Given the description of an element on the screen output the (x, y) to click on. 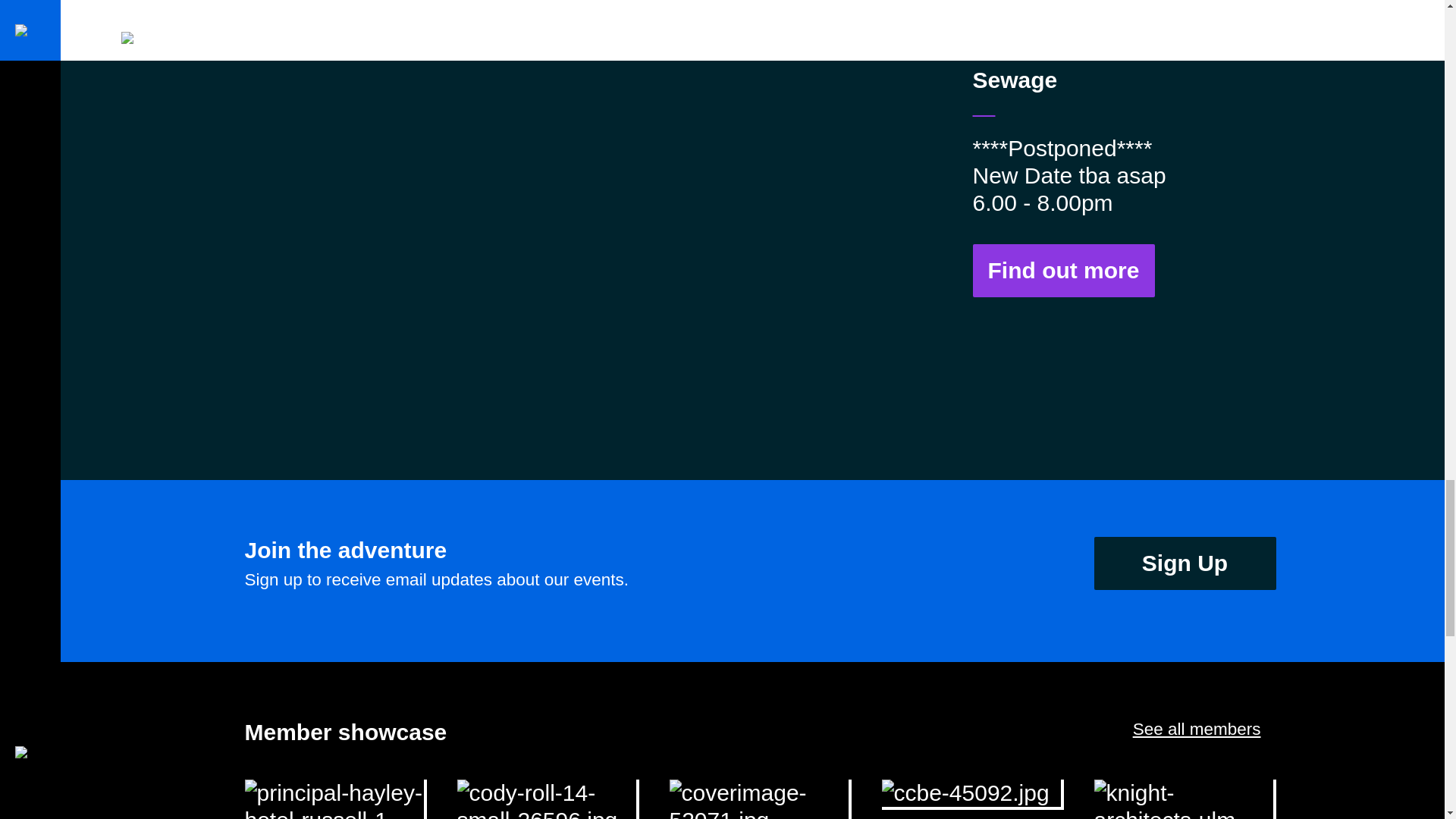
See all members (1196, 729)
Sign Up (1184, 563)
Find out more (1063, 270)
